Given the description of an element on the screen output the (x, y) to click on. 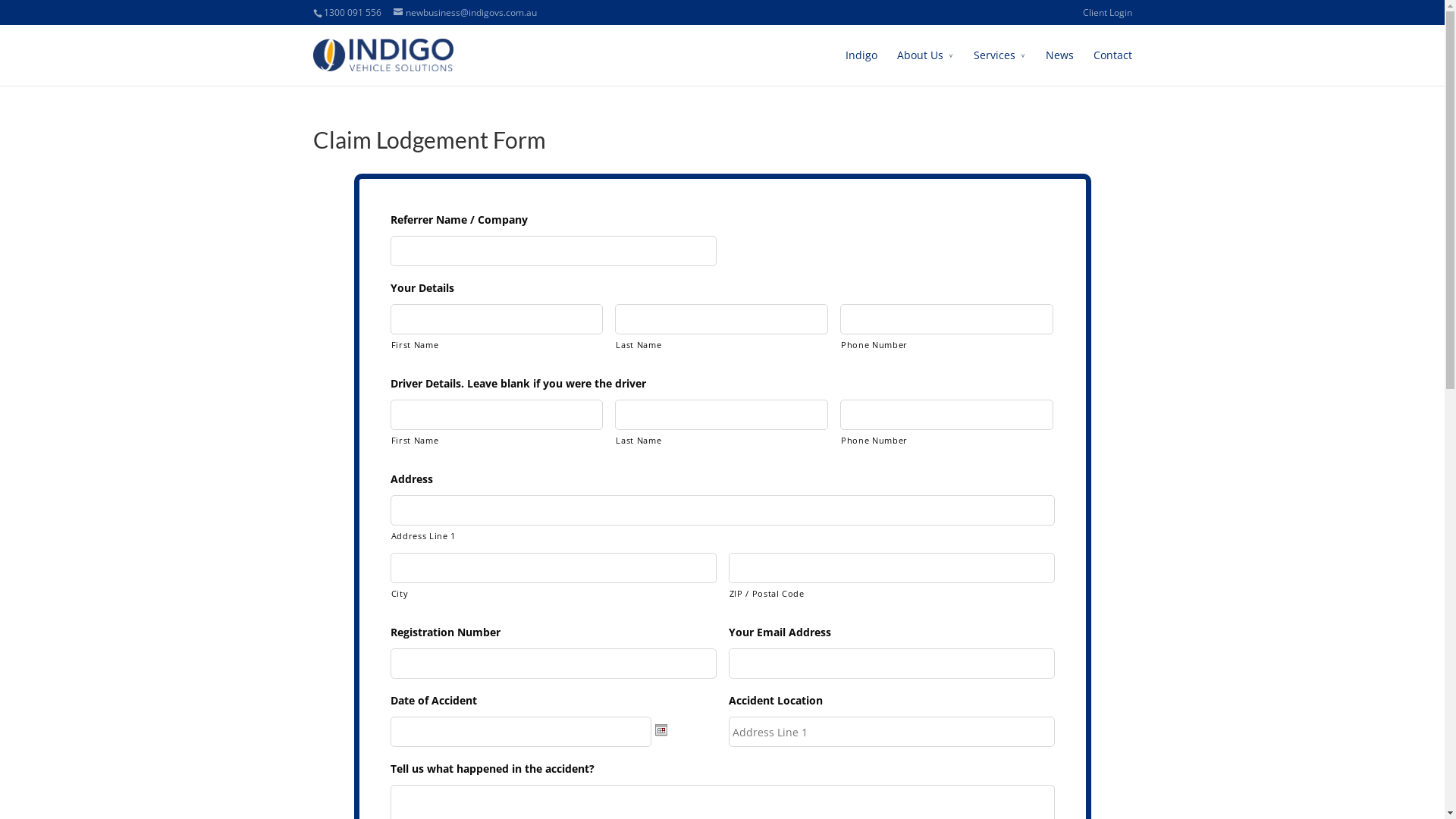
Client Login Element type: text (1107, 17)
Indigo Element type: text (860, 65)
Services Element type: text (999, 65)
Contact Element type: text (1112, 65)
About Us Element type: text (924, 65)
newbusiness@indigovs.com.au Element type: text (464, 12)
News Element type: text (1058, 65)
